Given the description of an element on the screen output the (x, y) to click on. 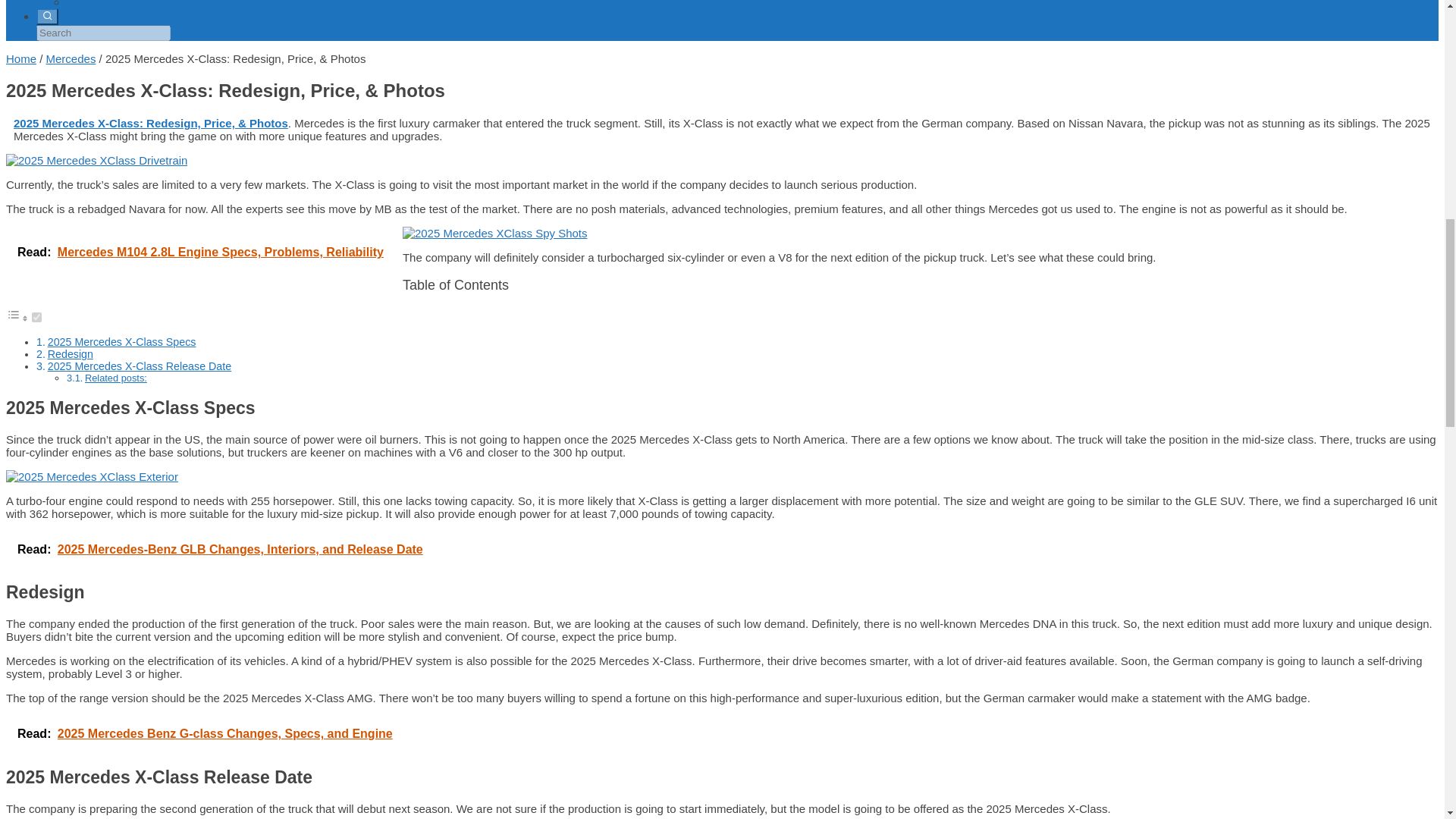
Redesign (70, 354)
2025 Mercedes X-Class Specs (122, 341)
on (37, 317)
2025 Mercedes XClass Exterior (91, 476)
2025 Mercedes XClass Drivetrain (96, 160)
Related posts: (115, 378)
Search (47, 16)
2025 Mercedes XClass Spy Shots (495, 232)
2025 Mercedes X-Class Release Date (139, 366)
